Given the description of an element on the screen output the (x, y) to click on. 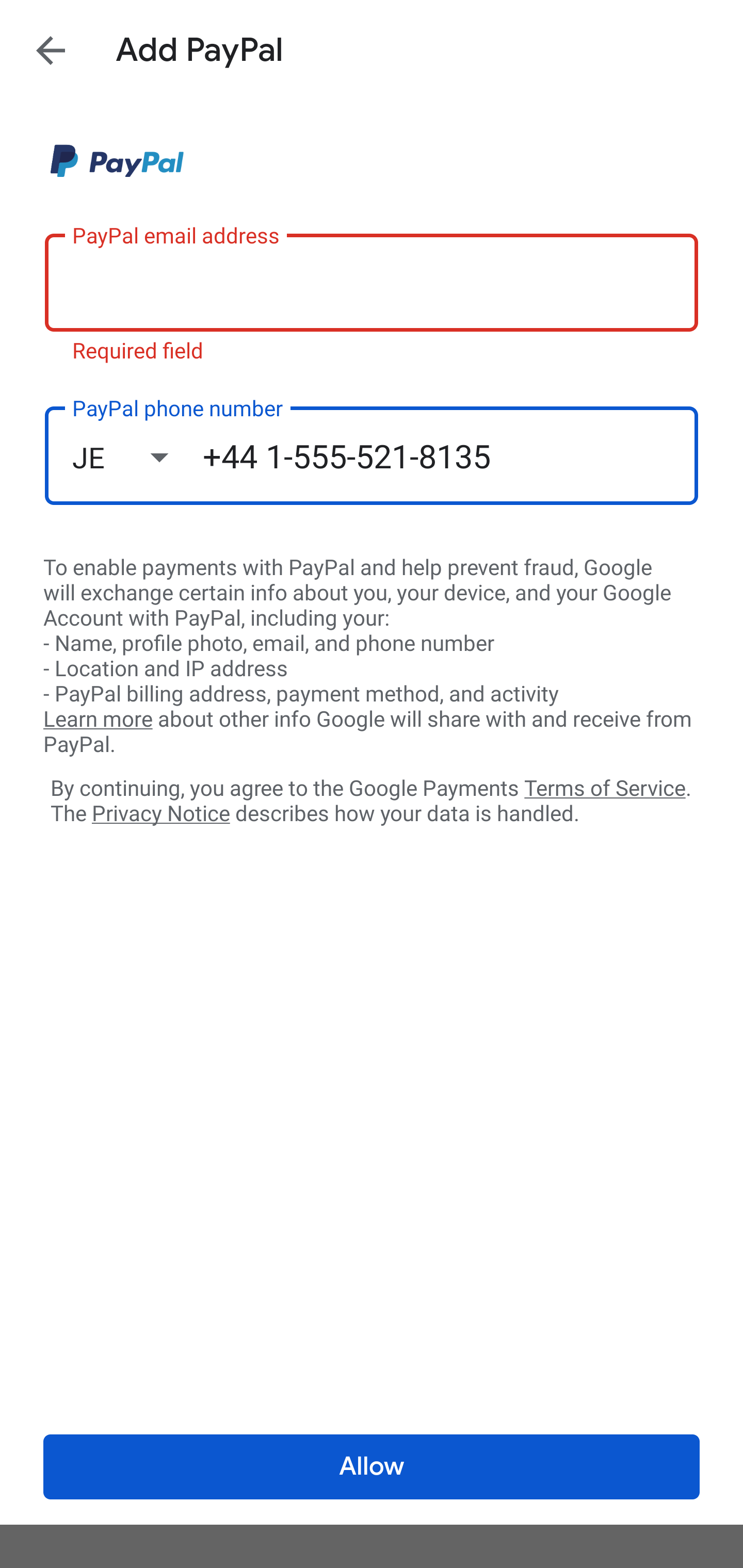
Navigate up (50, 50)
JE (137, 456)
Learn more (97, 719)
Terms of Service (604, 787)
Privacy Notice (160, 814)
Allow (371, 1466)
